Given the description of an element on the screen output the (x, y) to click on. 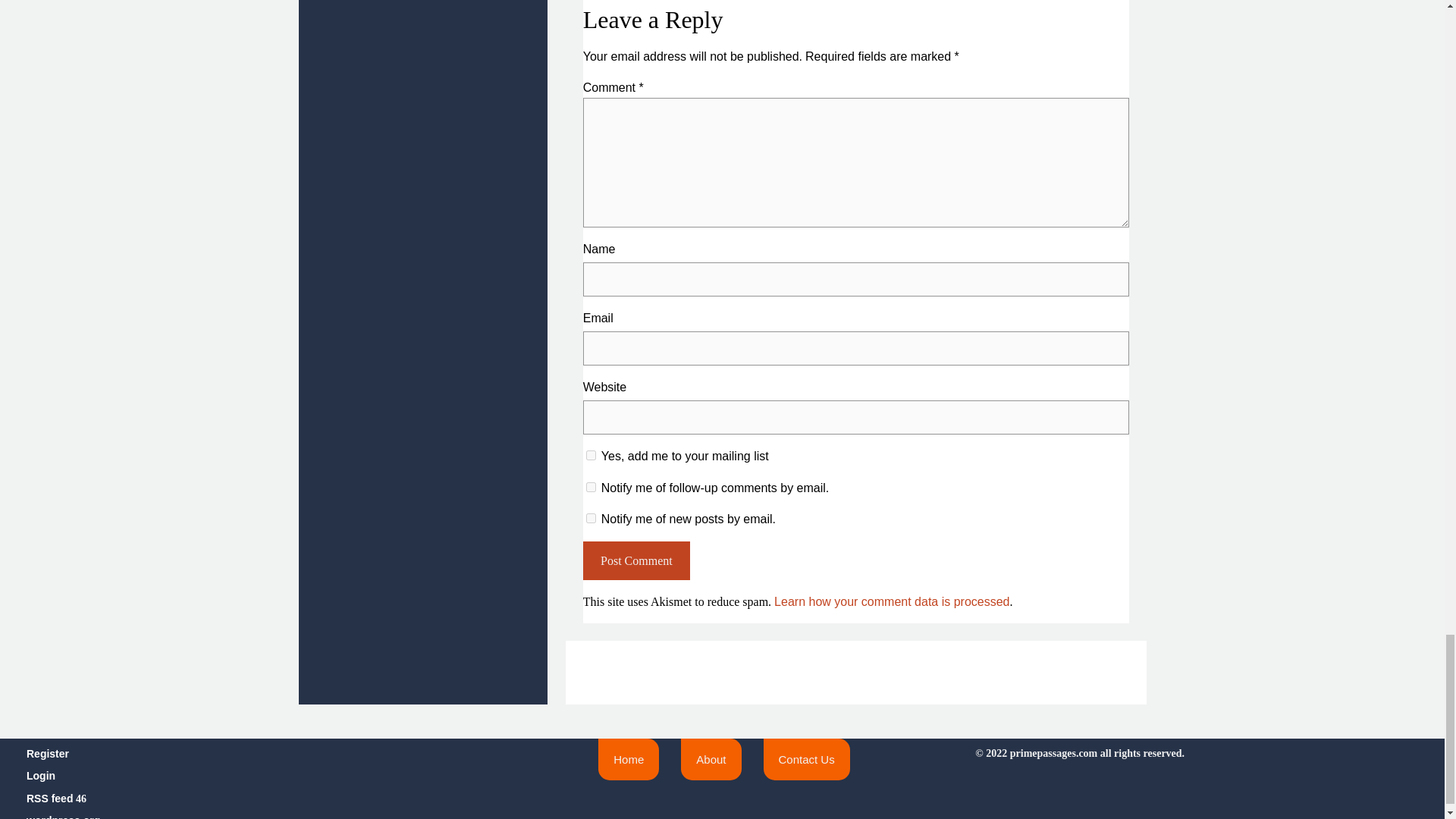
subscribe (590, 518)
Post Comment (636, 560)
subscribe (590, 487)
1 (590, 455)
